Given the description of an element on the screen output the (x, y) to click on. 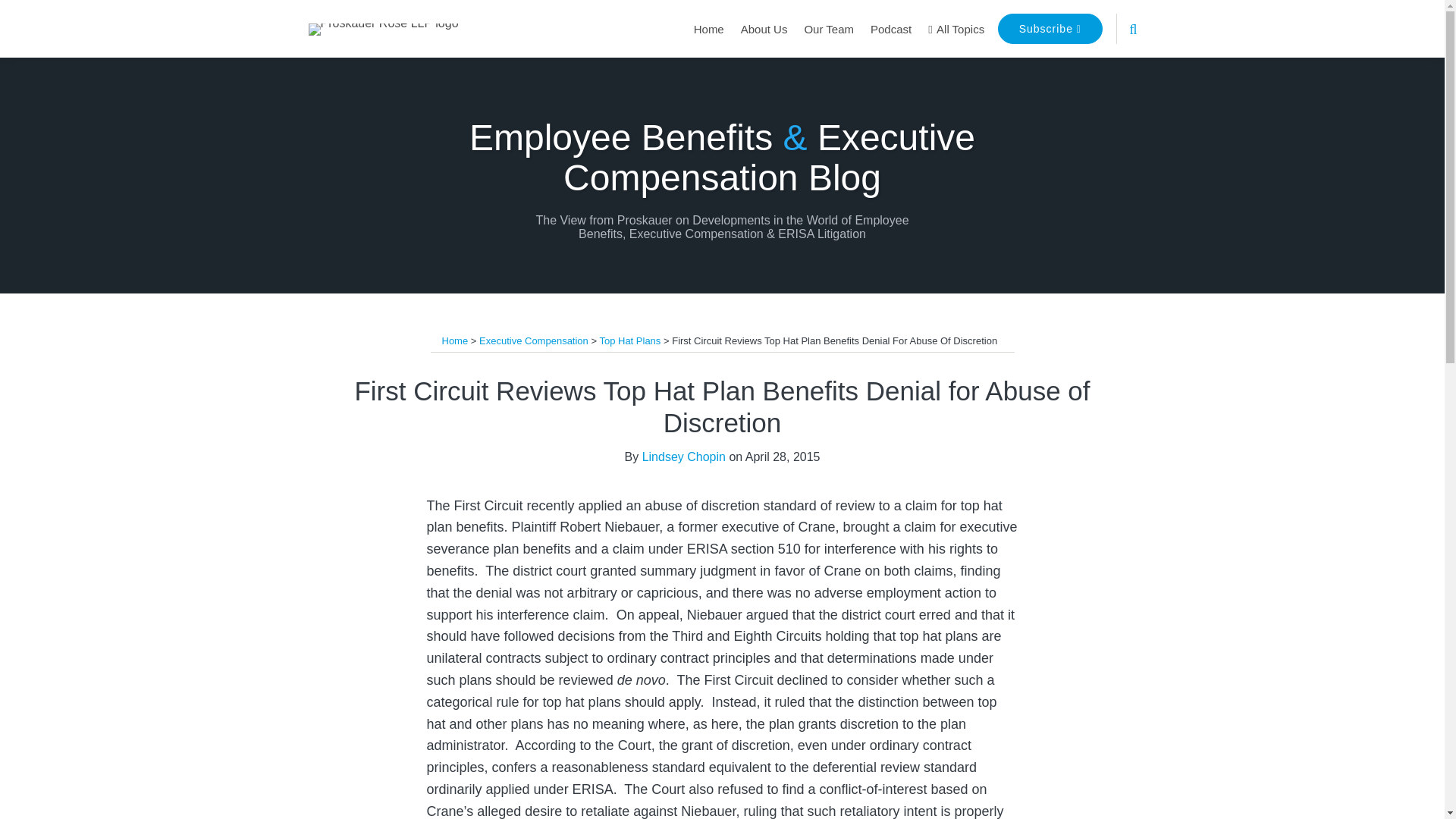
Subscribe (1049, 28)
Top Hat Plans (629, 340)
Home (708, 29)
Executive Compensation (533, 340)
Podcast (890, 29)
Our Team (828, 29)
Lindsey Chopin (683, 456)
All Topics (956, 29)
About Us (764, 29)
Home (454, 340)
